Given the description of an element on the screen output the (x, y) to click on. 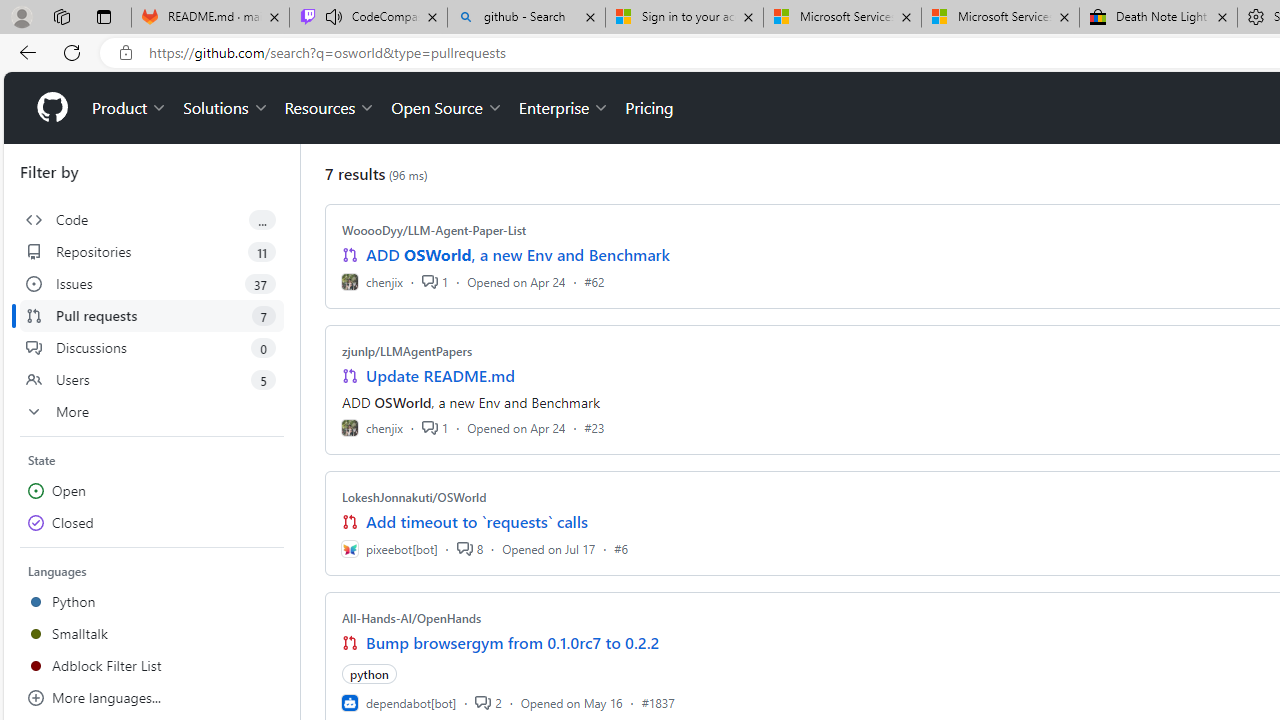
#1837 (657, 702)
Mute tab (333, 16)
LokeshJonnakuti/OSWorld (413, 497)
8 (469, 548)
Solutions (225, 107)
pixeebot[bot] (389, 548)
